Given the description of an element on the screen output the (x, y) to click on. 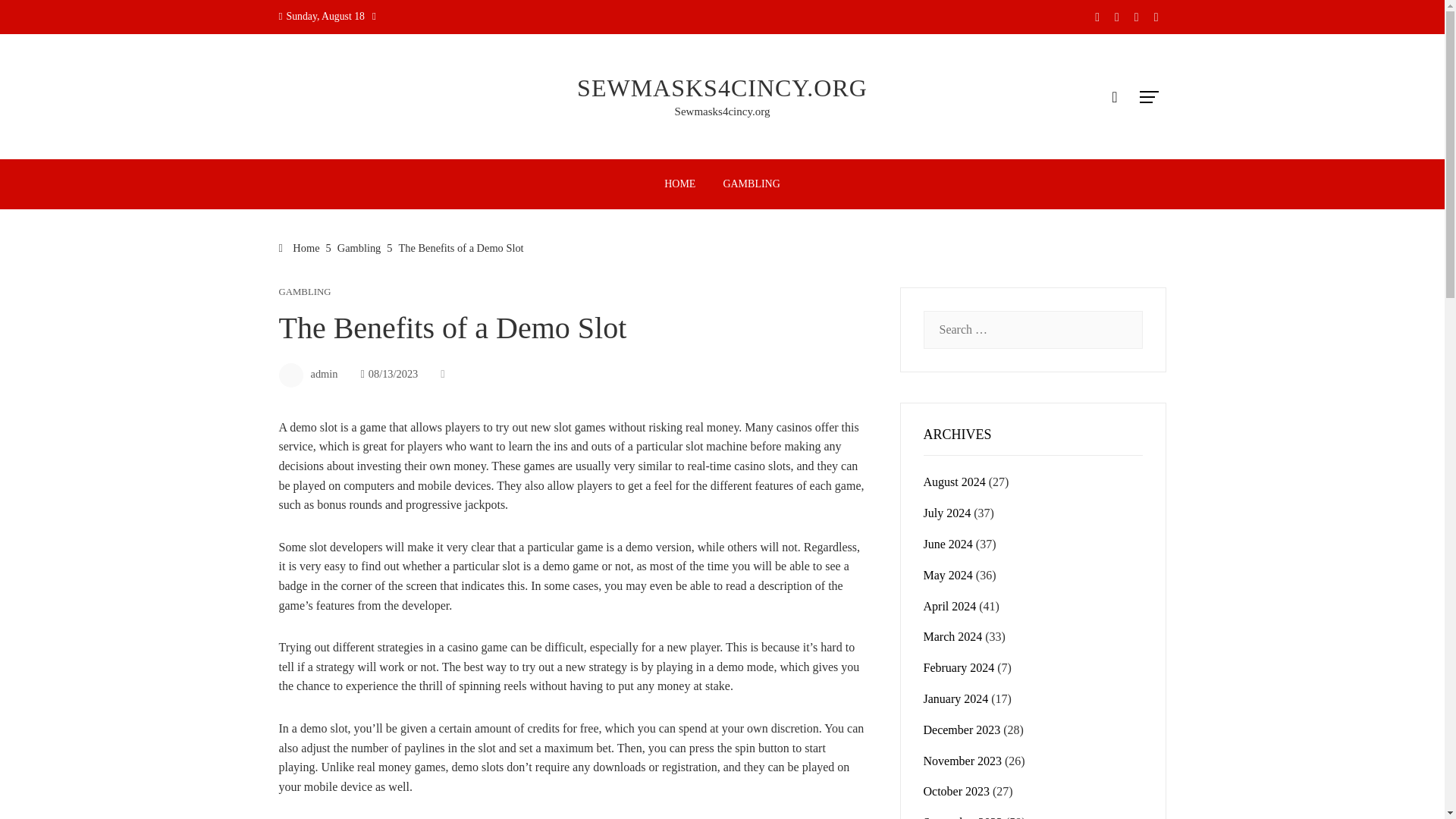
July 2024 (947, 512)
December 2023 (962, 729)
Search (35, 18)
HOME (679, 183)
November 2023 (963, 760)
February 2024 (958, 667)
Gambling (359, 247)
August 2024 (954, 481)
GAMBLING (305, 292)
January 2024 (955, 698)
